Given the description of an element on the screen output the (x, y) to click on. 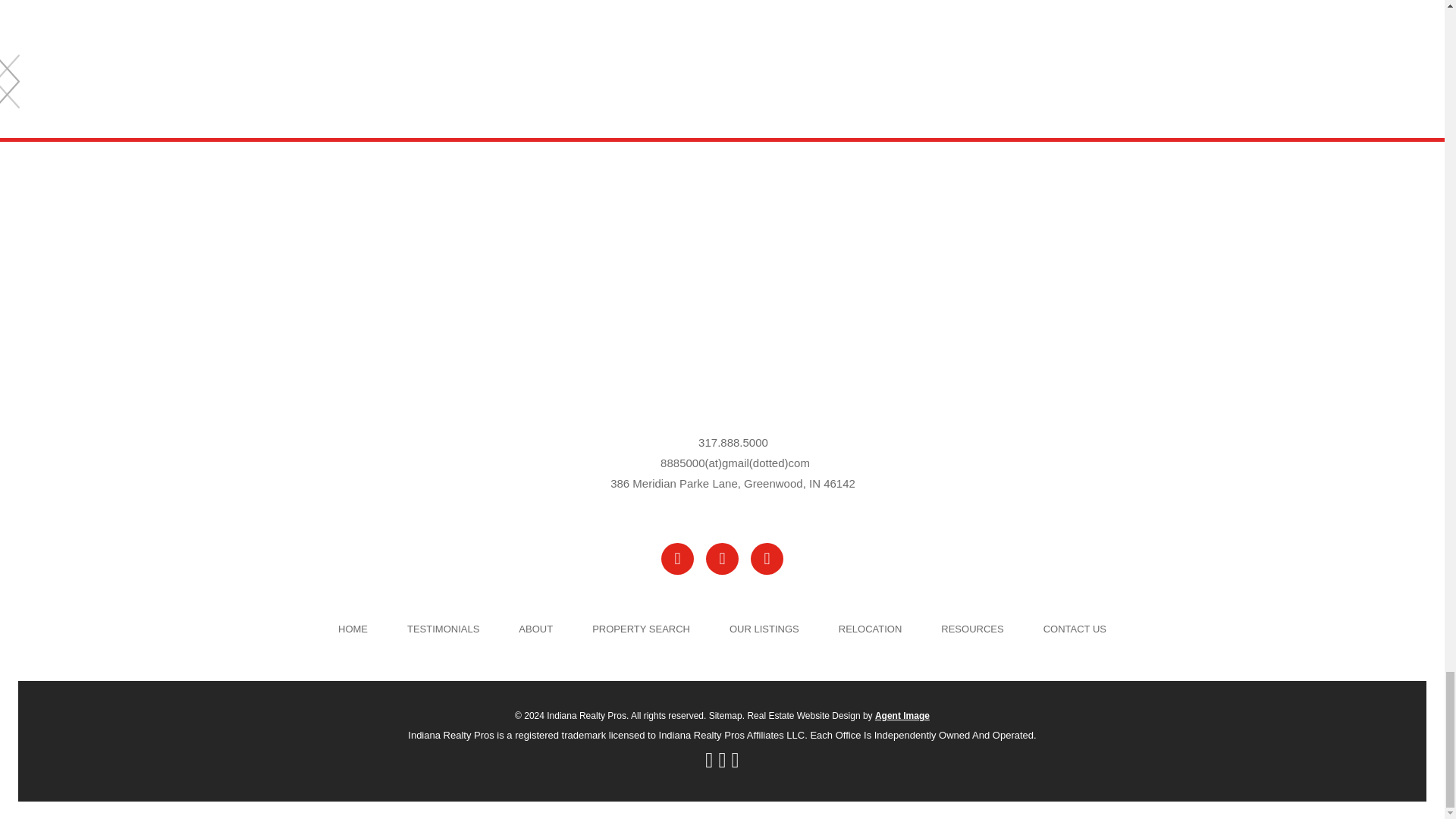
HOME (352, 628)
317.888.5000 (733, 442)
facebook (677, 558)
386 Meridian Parke Lane, Greenwood, IN 46142 (733, 483)
TESTIMONIALS (443, 628)
PROPERTY SEARCH (641, 628)
ABOUT (535, 628)
twitter (722, 558)
instagram (767, 558)
